Given the description of an element on the screen output the (x, y) to click on. 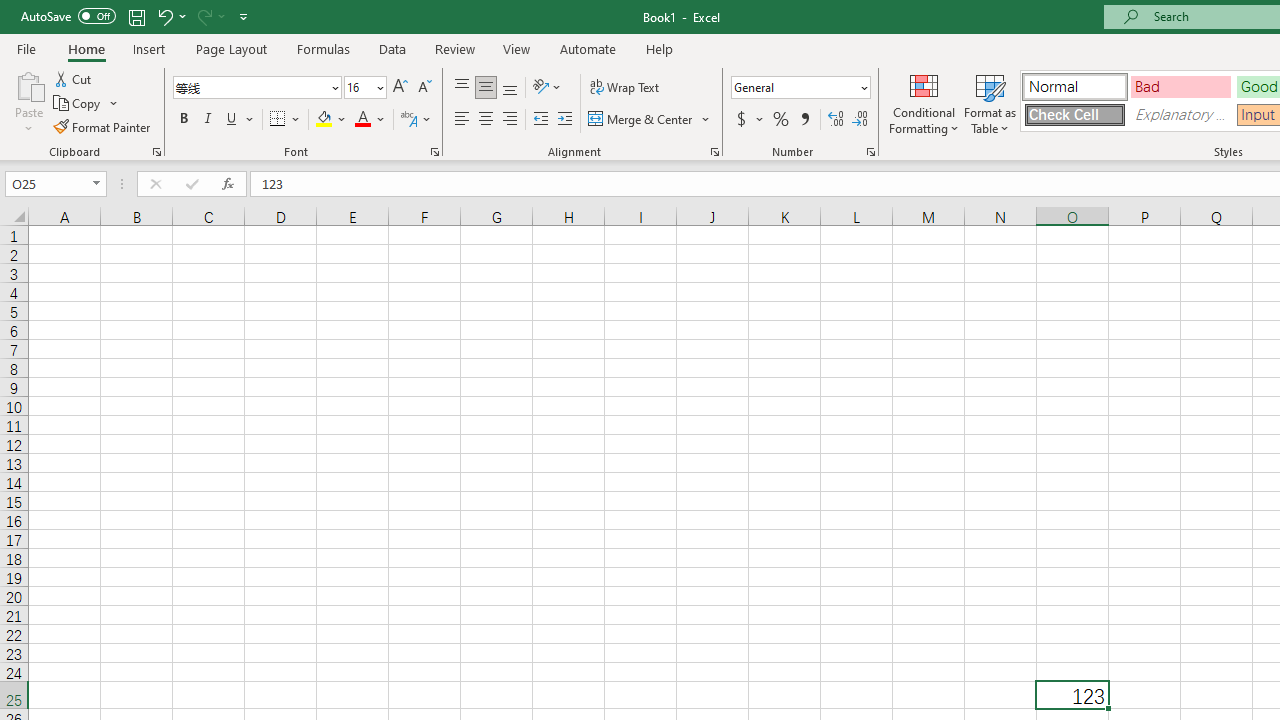
Bottom Align (509, 87)
Copy (85, 103)
Explanatory Text (1180, 114)
Middle Align (485, 87)
Align Right (509, 119)
Orientation (547, 87)
Underline (239, 119)
